Given the description of an element on the screen output the (x, y) to click on. 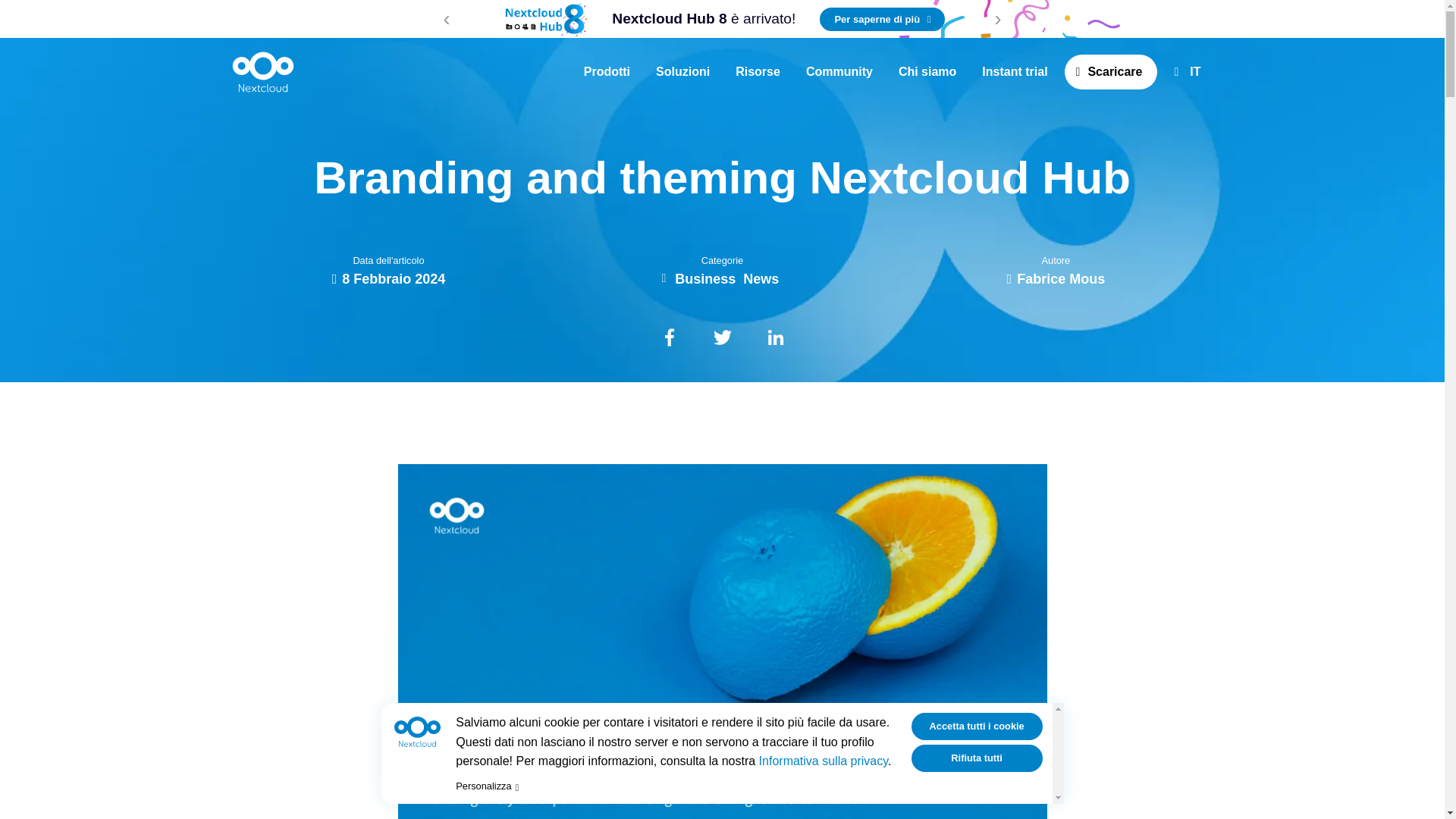
Prodotti (607, 71)
Soluzioni (682, 71)
